Given the description of an element on the screen output the (x, y) to click on. 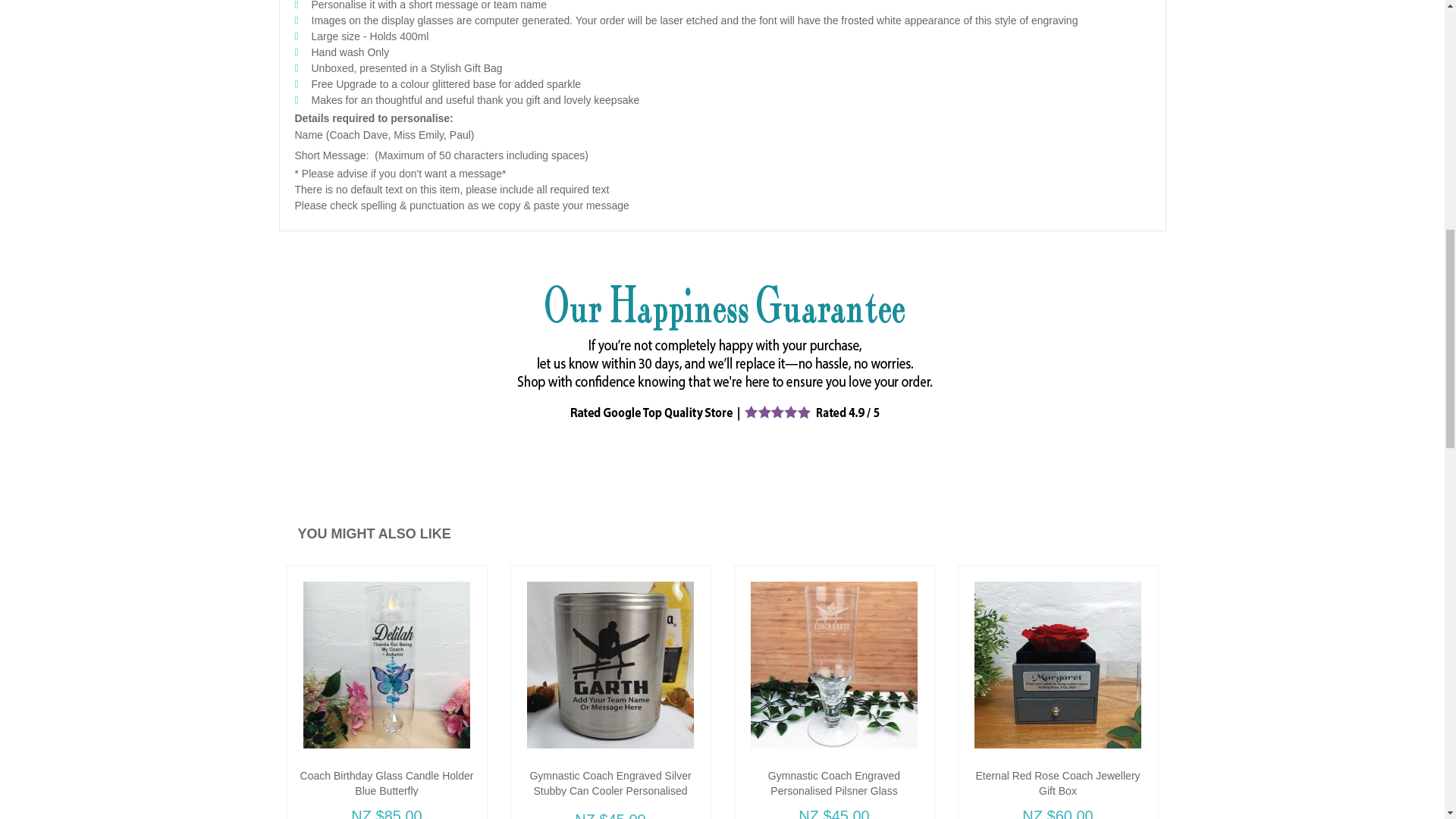
Coach Birthday Glass Candle Holder Blue Butterfly (386, 782)
